Given the description of an element on the screen output the (x, y) to click on. 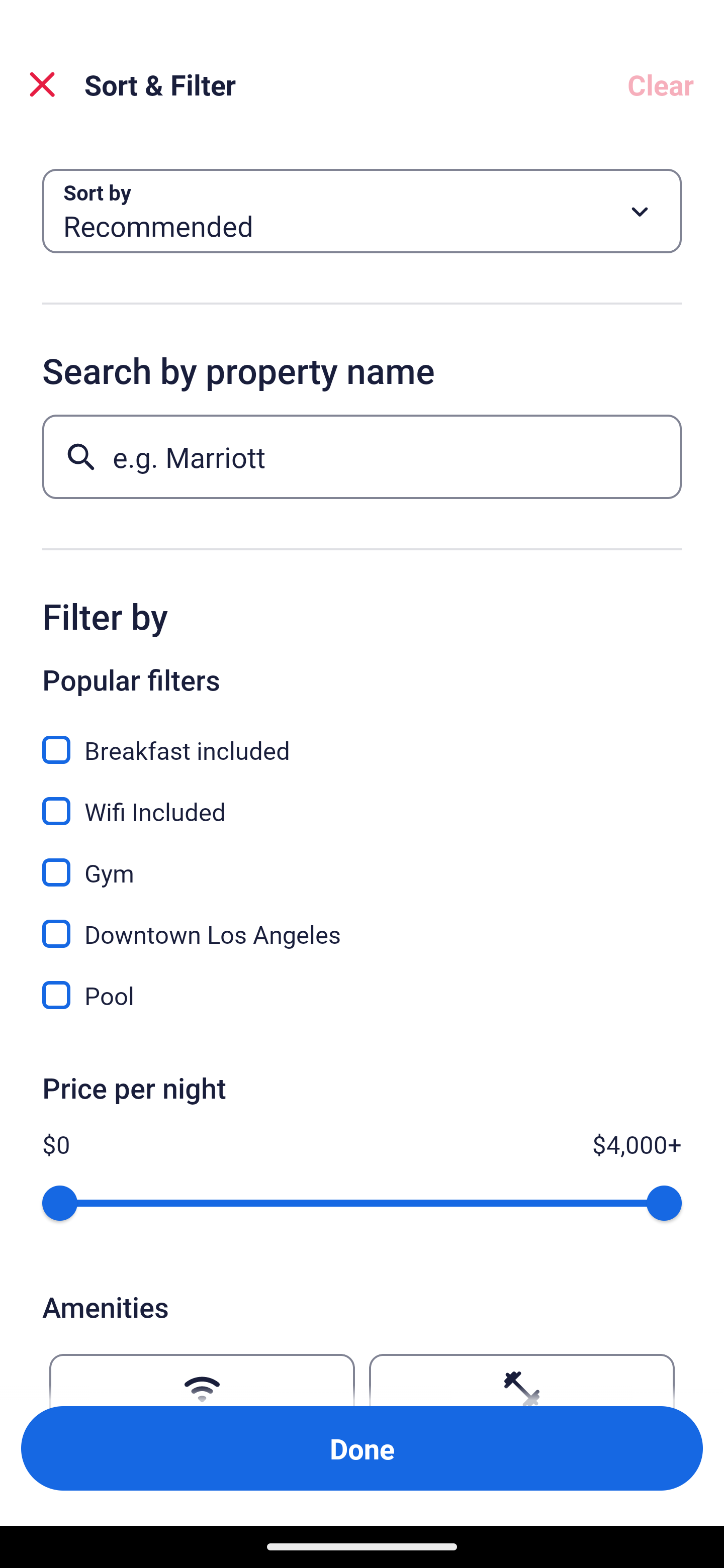
Close Sort and Filter (42, 84)
Clear (660, 84)
Sort by Button Recommended (361, 211)
e.g. Marriott Button (361, 455)
Breakfast included, Breakfast included (361, 738)
Wifi Included, Wifi Included (361, 800)
Gym, Gym (361, 861)
Downtown Los Angeles, Downtown Los Angeles (361, 922)
Pool, Pool (361, 995)
Apply and close Sort and Filter Done (361, 1448)
